Given the description of an element on the screen output the (x, y) to click on. 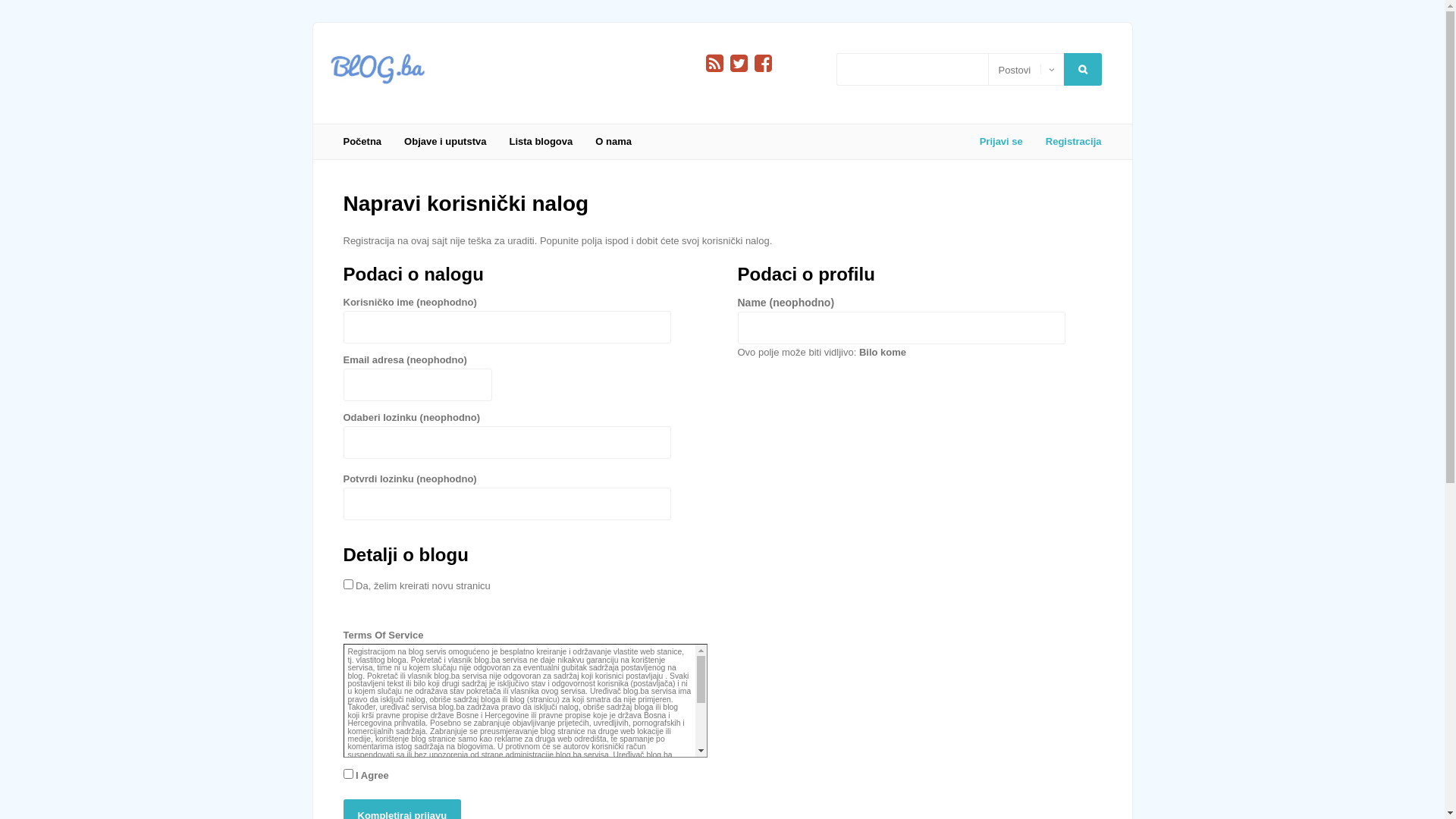
RSS Feed Element type: hover (714, 63)
Registracija Element type: text (1067, 141)
Twitter Element type: hover (738, 63)
Prijavi se Element type: text (1001, 141)
Facebook Element type: hover (762, 63)
O nama Element type: text (613, 141)
creativecommons.org Element type: text (384, 794)
Objave i uputstva Element type: text (444, 141)
Prijavi se Element type: text (63, 232)
Lista blogova Element type: text (540, 141)
